Given the description of an element on the screen output the (x, y) to click on. 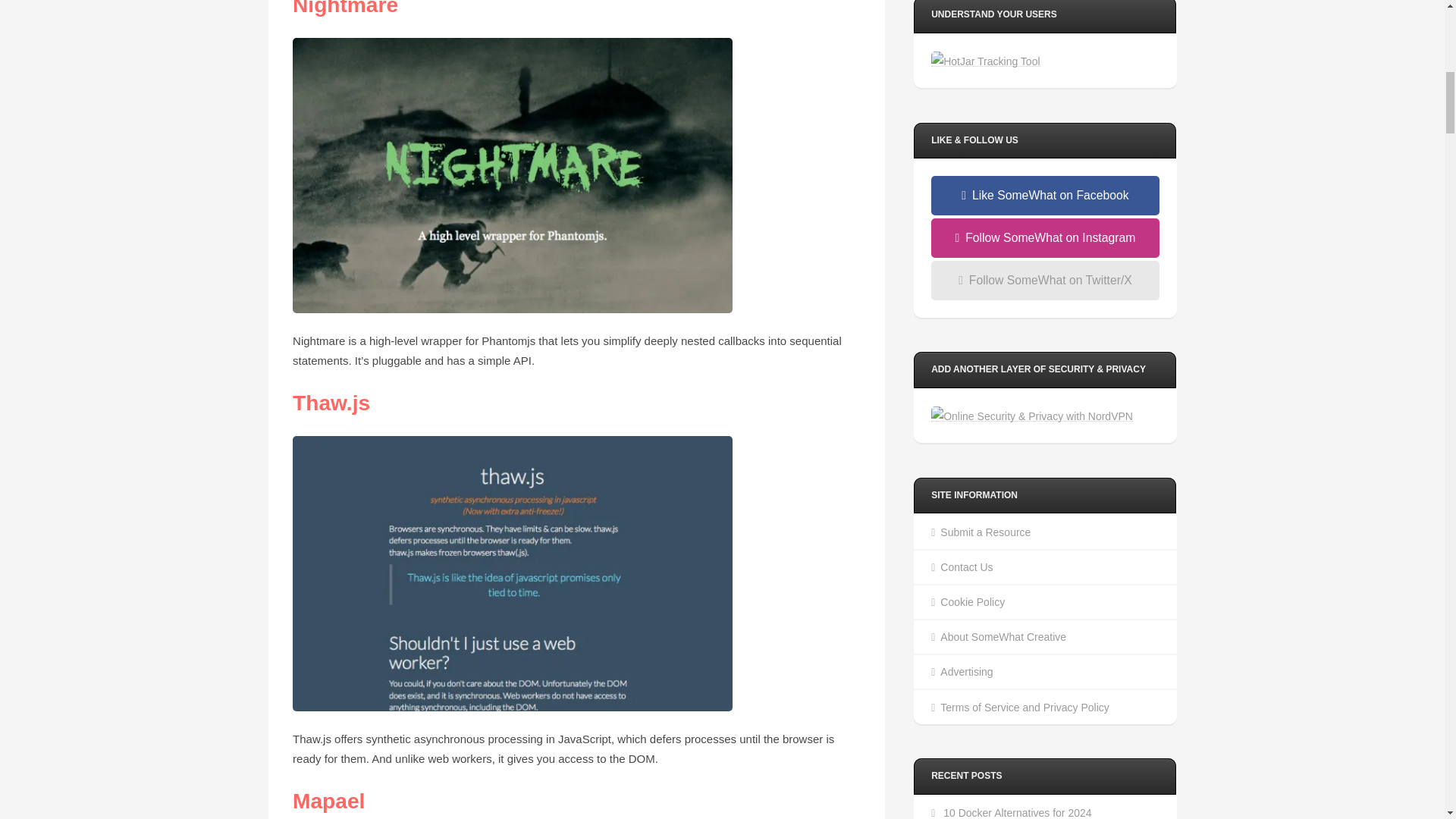
Nightmare (344, 8)
Thaw.js (330, 402)
Mapael (328, 801)
